Given the description of an element on the screen output the (x, y) to click on. 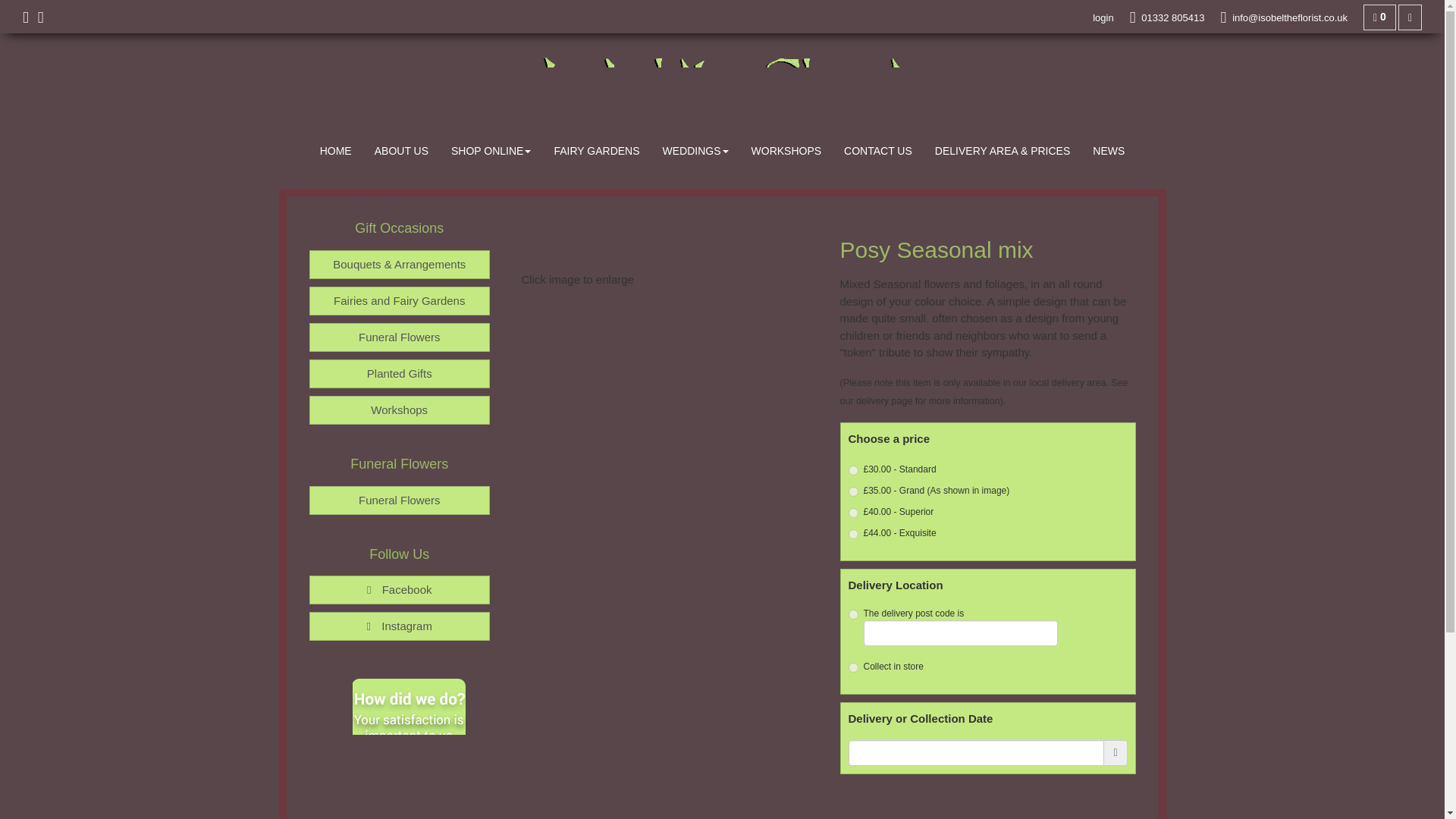
login (1103, 17)
01332 805413 (1167, 17)
30.00 (852, 470)
1 (852, 614)
35.00 (852, 491)
3 (852, 667)
0 (1379, 17)
44.00 (852, 533)
HOME (335, 150)
40.00 (852, 512)
